Given the description of an element on the screen output the (x, y) to click on. 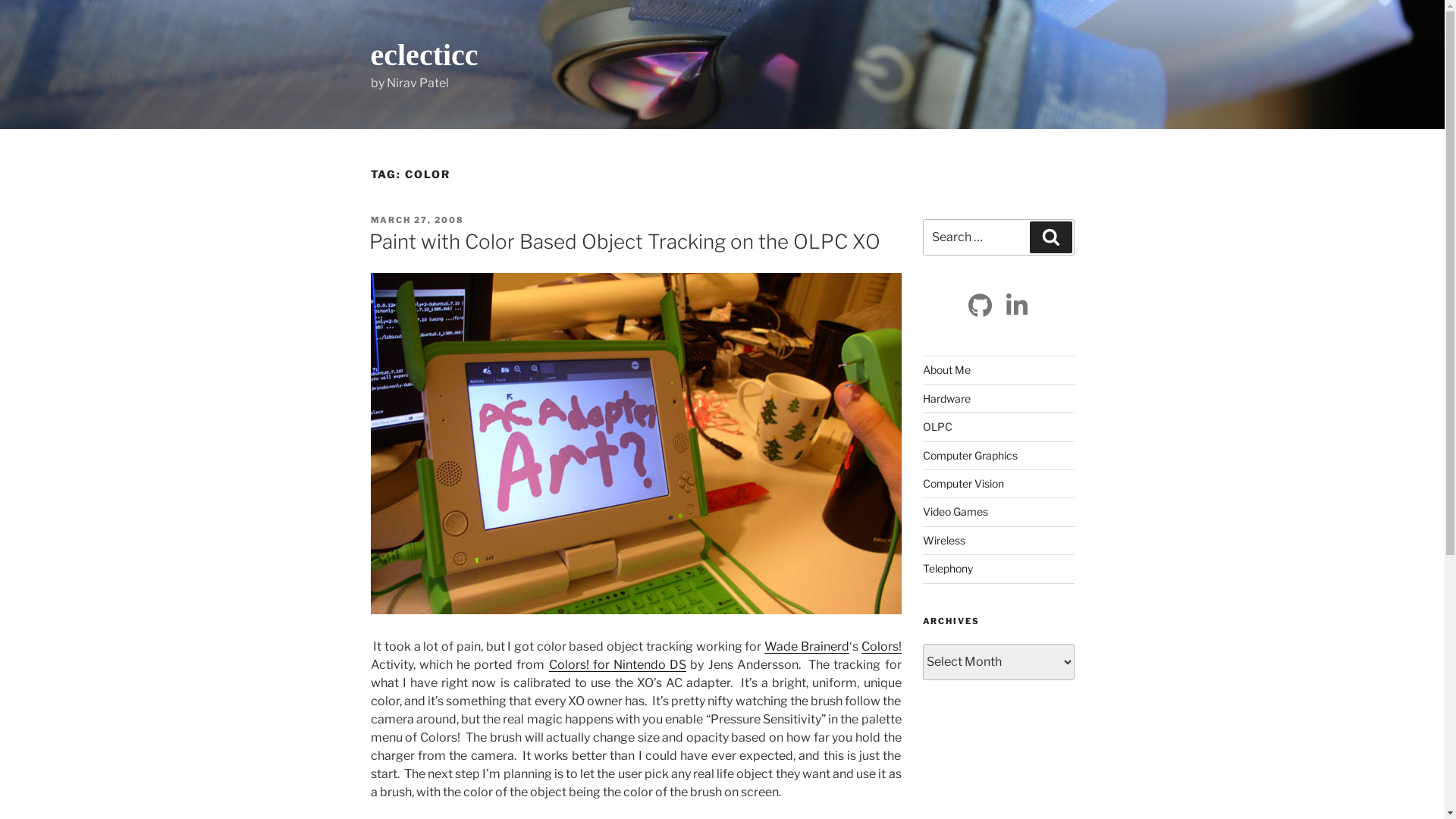
Colors! for Nintendo DS Element type: text (618, 664)
eclecticc Element type: text (423, 54)
Hardware Element type: text (945, 398)
Colors! Element type: text (881, 646)
LinkedIn Element type: hover (1015, 305)
Paint with Color Based Object Tracking on the OLPC XO Element type: text (623, 241)
Computer Graphics Element type: text (969, 454)
Github Element type: hover (979, 305)
OLPC Element type: text (936, 426)
The text was indeed drawn with the charger Element type: hover (635, 443)
LinkedIn Element type: hover (1015, 305)
Wireless Element type: text (943, 539)
Computer Vision Element type: text (962, 482)
Wade Brainerd Element type: text (806, 646)
Video Games Element type: text (954, 511)
About Me Element type: text (945, 369)
Telephony Element type: text (947, 567)
Search Element type: text (1050, 237)
Github Element type: hover (979, 305)
MARCH 27, 2008 Element type: text (417, 219)
